Given the description of an element on the screen output the (x, y) to click on. 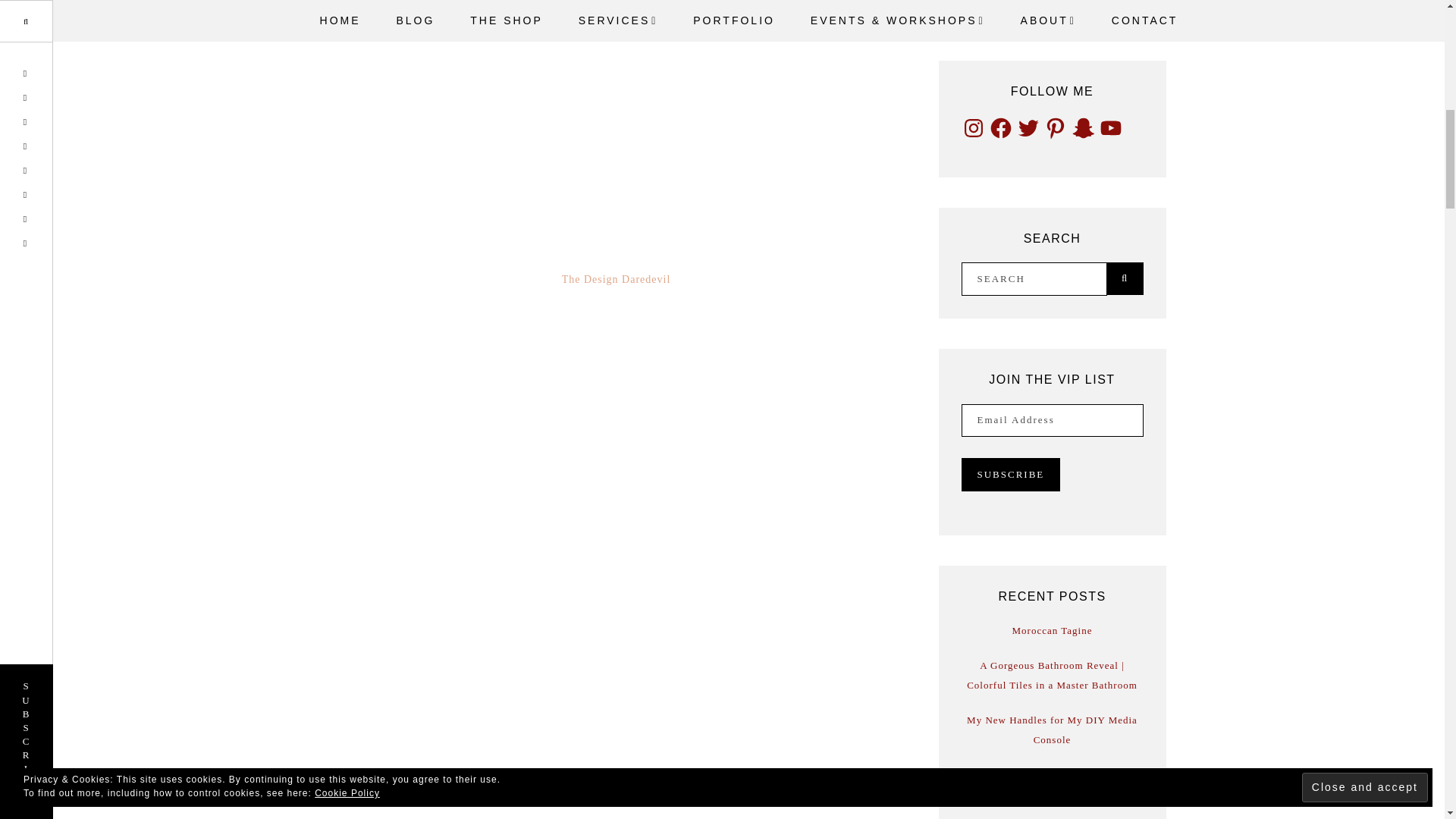
The Design Daredevil (616, 279)
Subscribe (1010, 474)
